Given the description of an element on the screen output the (x, y) to click on. 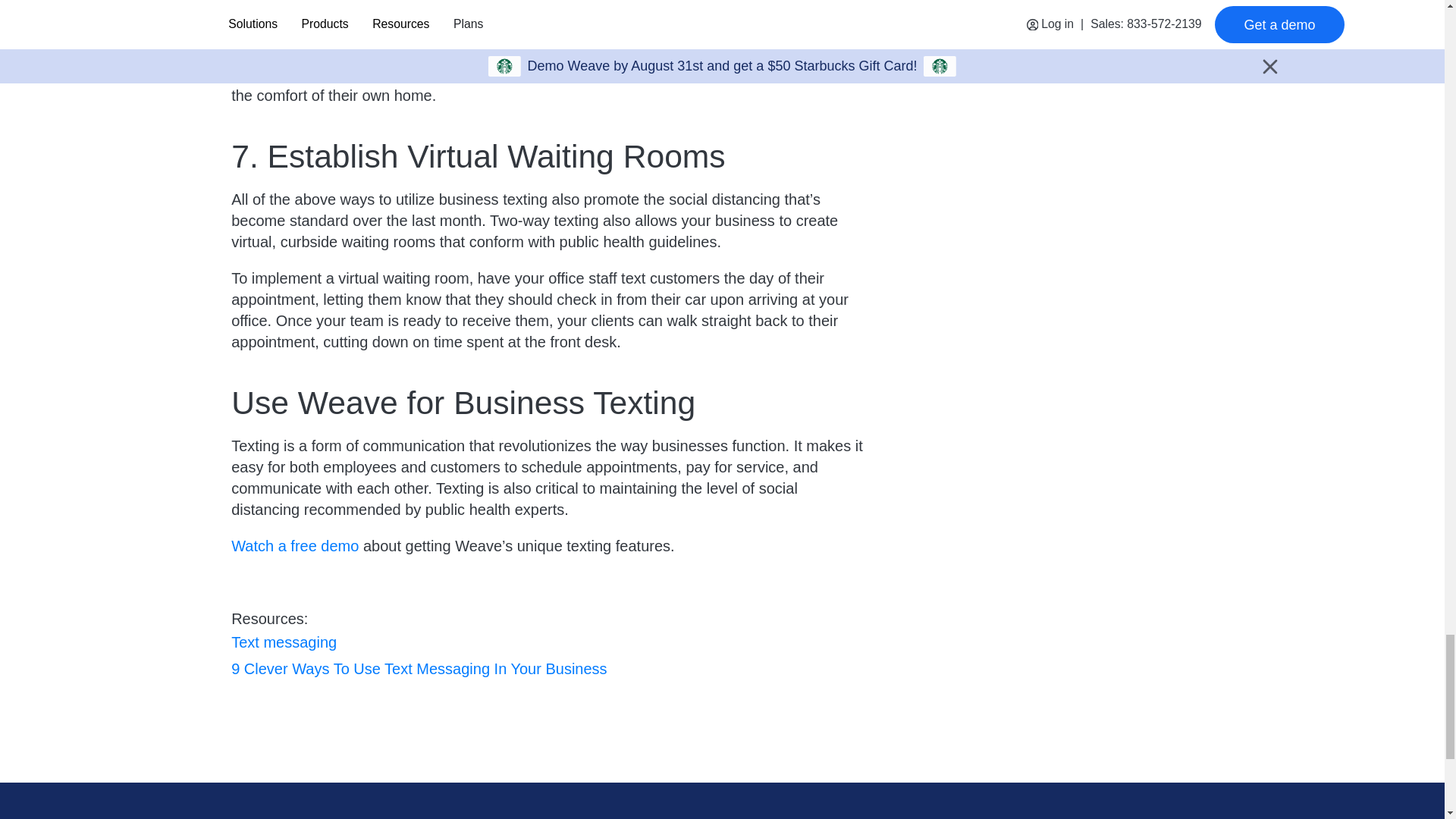
Text messaging (283, 641)
Watch a free demo (294, 545)
9 Clever Ways To Use Text Messaging In Your Business (419, 668)
